Given the description of an element on the screen output the (x, y) to click on. 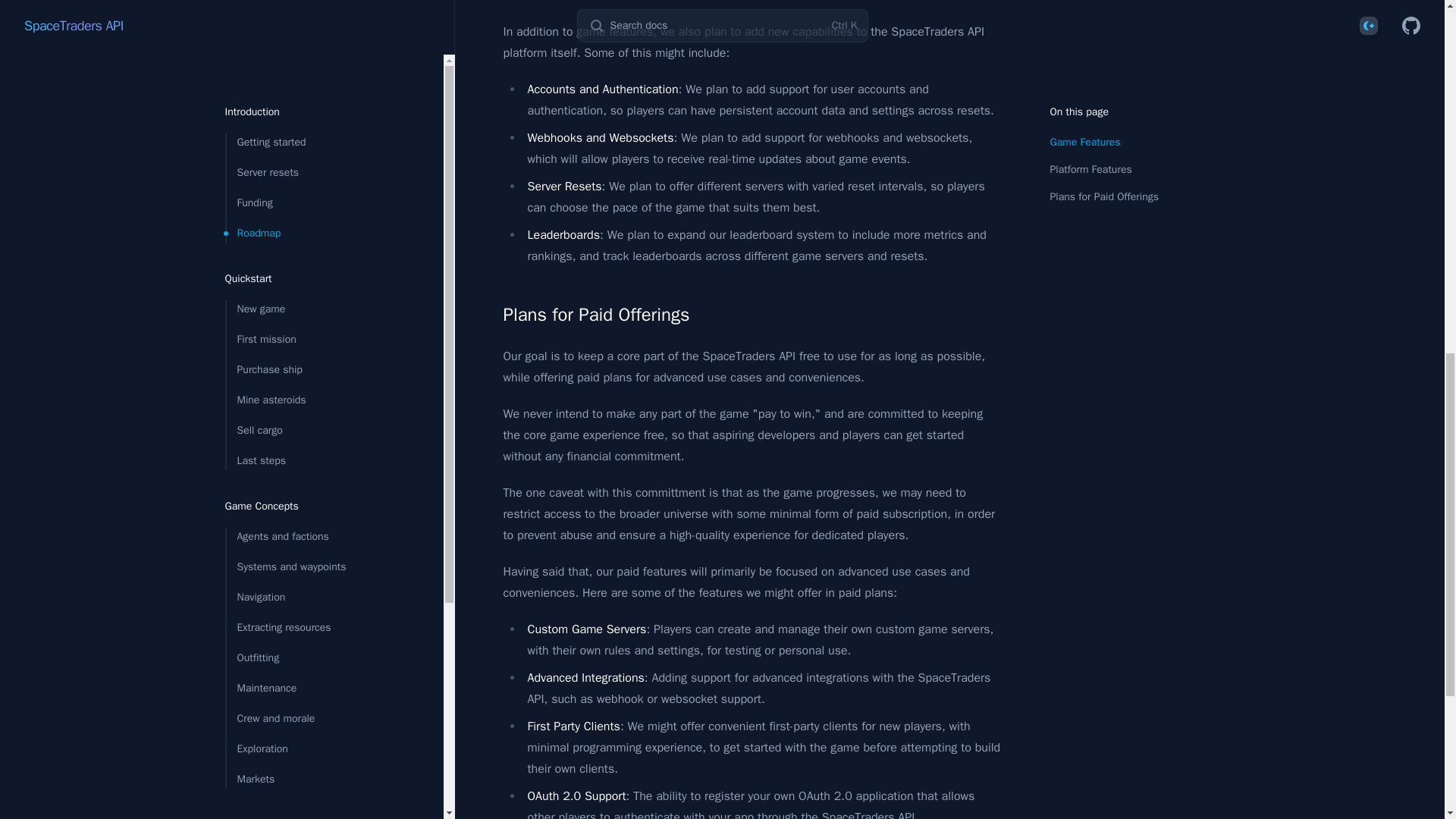
Response errors (309, 96)
Server Resets (309, 233)
API authorization (309, 66)
Changelog (309, 203)
OpenAPI spec (309, 36)
Rate limits (309, 126)
